Given the description of an element on the screen output the (x, y) to click on. 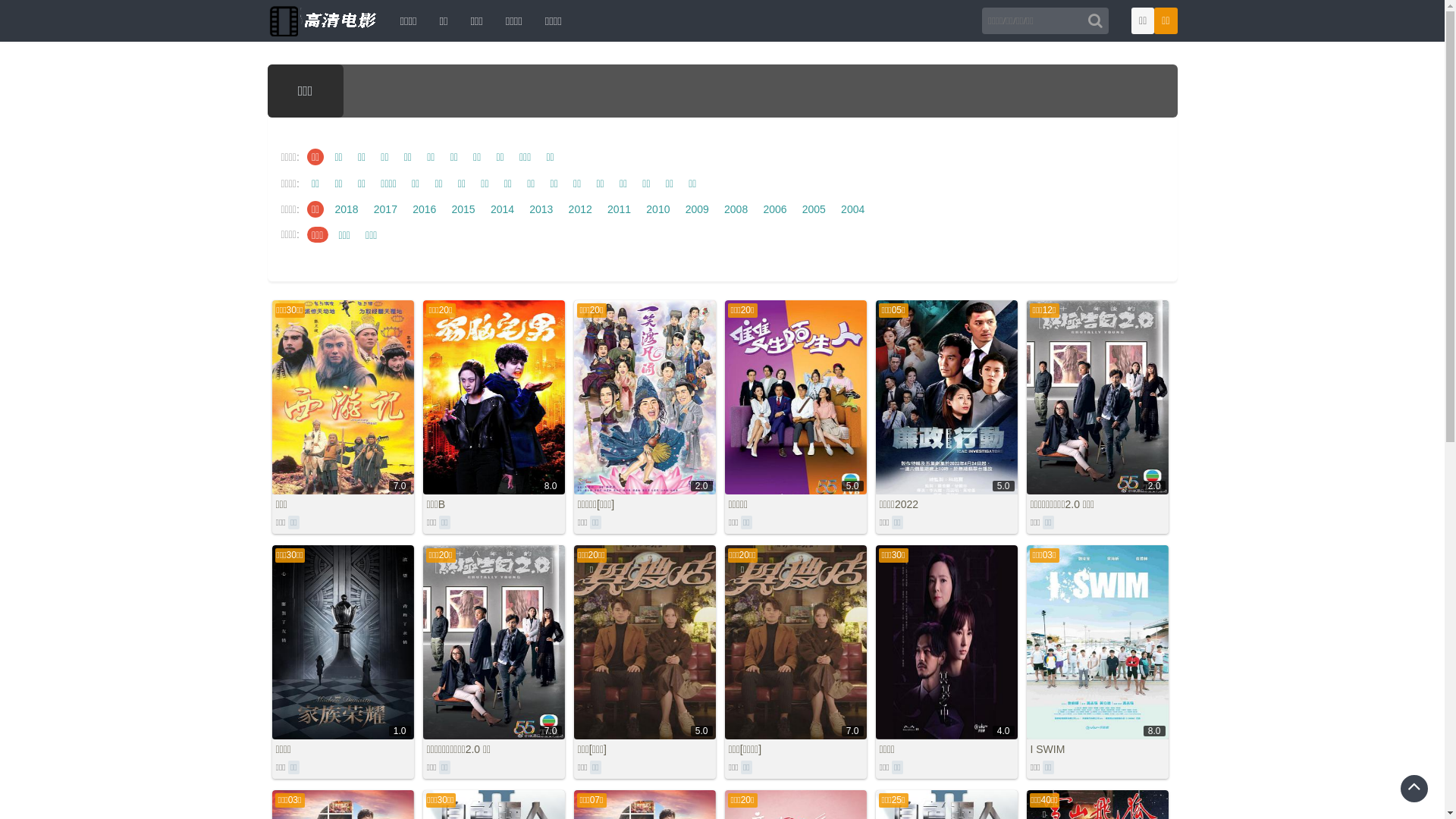
2010 Element type: text (657, 208)
2017 Element type: text (385, 208)
2006 Element type: text (774, 208)
2012 Element type: text (579, 208)
2018 Element type: text (345, 208)
2004 Element type: text (852, 208)
2011 Element type: text (618, 208)
2015 Element type: text (462, 208)
2016 Element type: text (423, 208)
2013 Element type: text (540, 208)
2005 Element type: text (813, 208)
2009 Element type: text (696, 208)
2008 Element type: text (735, 208)
2014 Element type: text (502, 208)
